Given the description of an element on the screen output the (x, y) to click on. 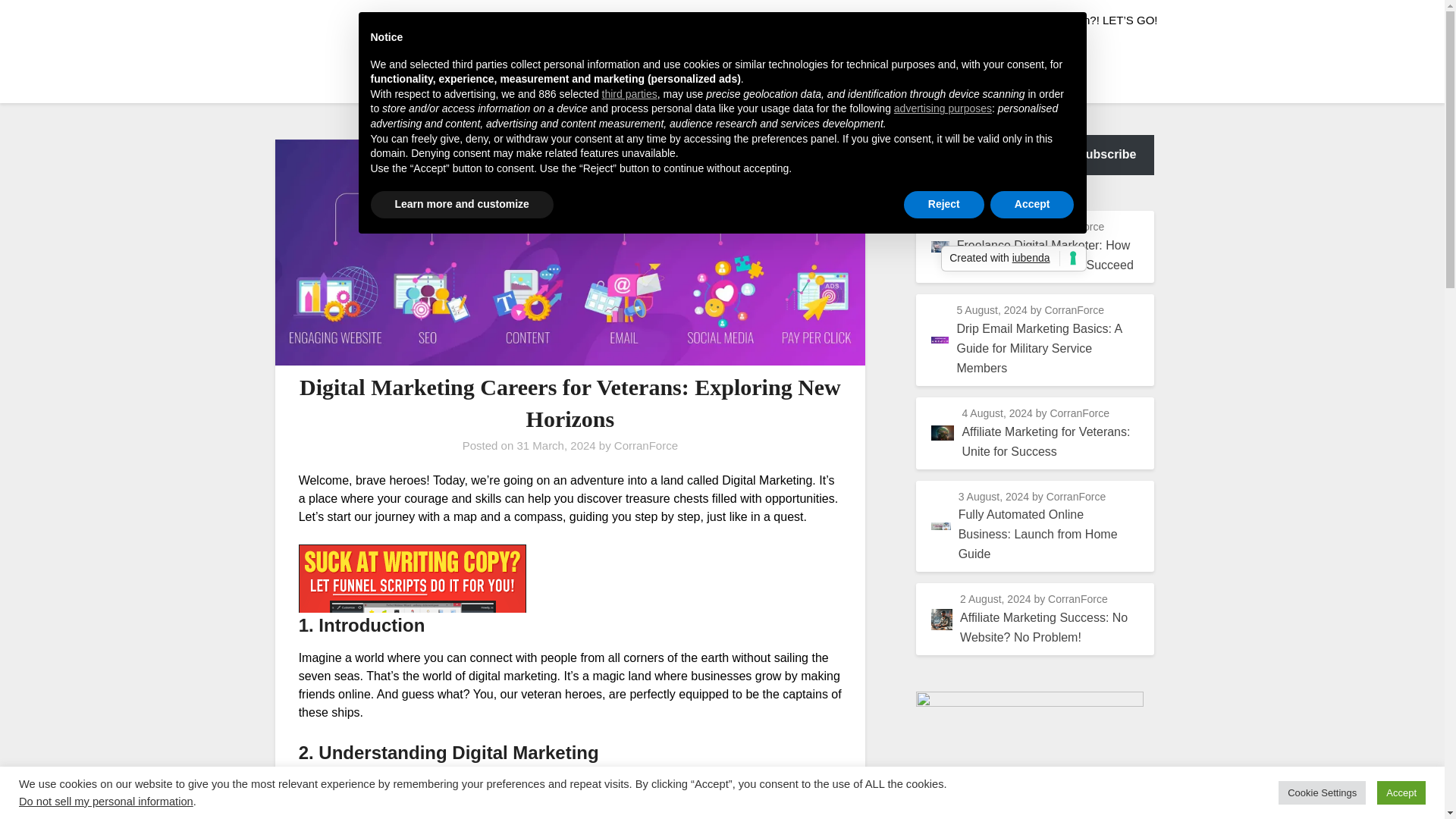
Please fill in this field. (983, 155)
31 March, 2024 (555, 445)
CorranForce (646, 445)
Home (976, 20)
Subscribe (1106, 155)
